Given the description of an element on the screen output the (x, y) to click on. 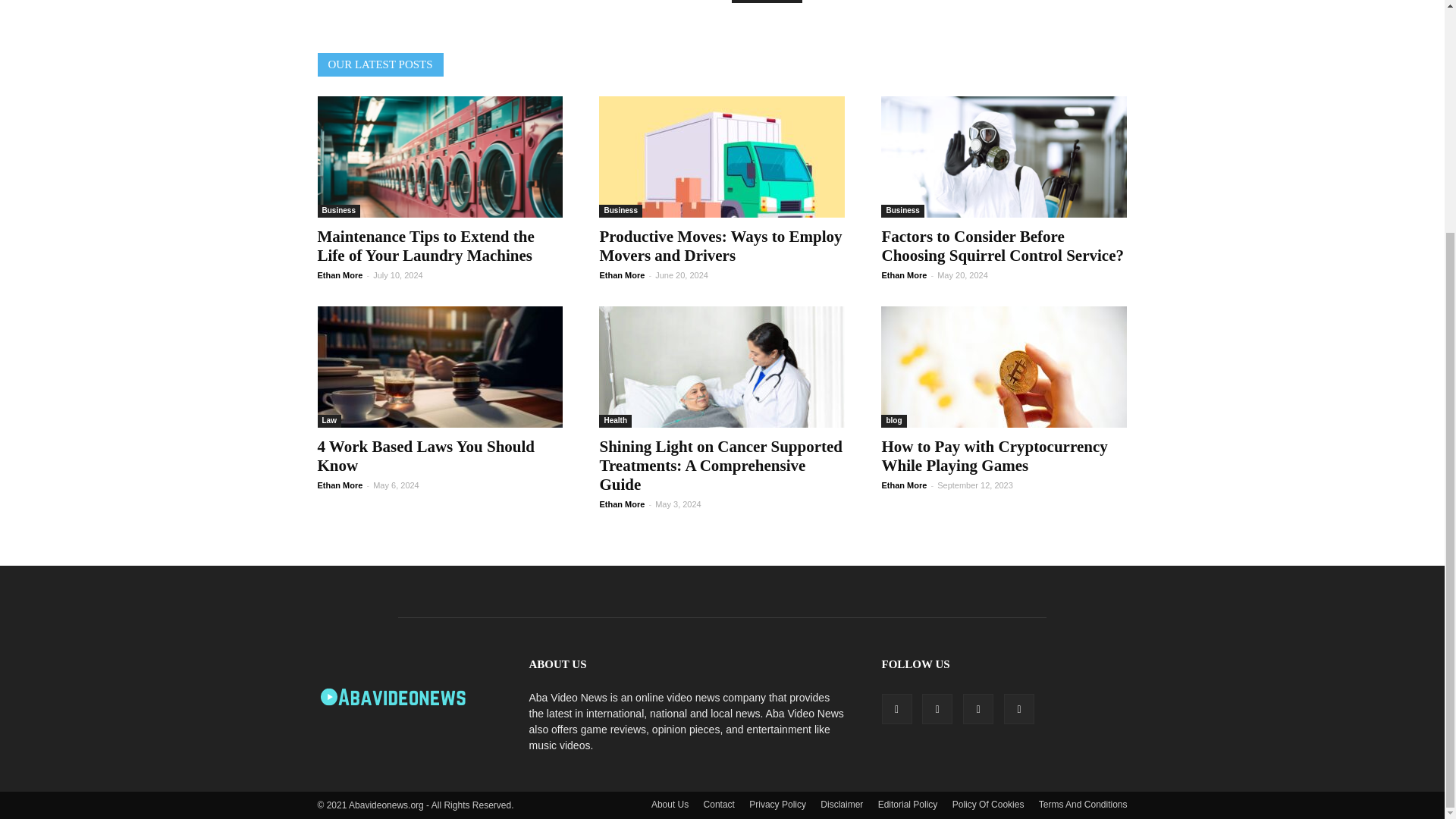
HOMEPAGE (767, 1)
Productive Moves: Ways to Employ Movers and Drivers (721, 156)
Maintenance Tips to Extend the Life of Your Laundry Machines (425, 245)
Maintenance Tips to Extend the Life of Your Laundry Machines (439, 156)
Business (338, 210)
Productive Moves: Ways to Employ Movers and Drivers (719, 245)
